Given the description of an element on the screen output the (x, y) to click on. 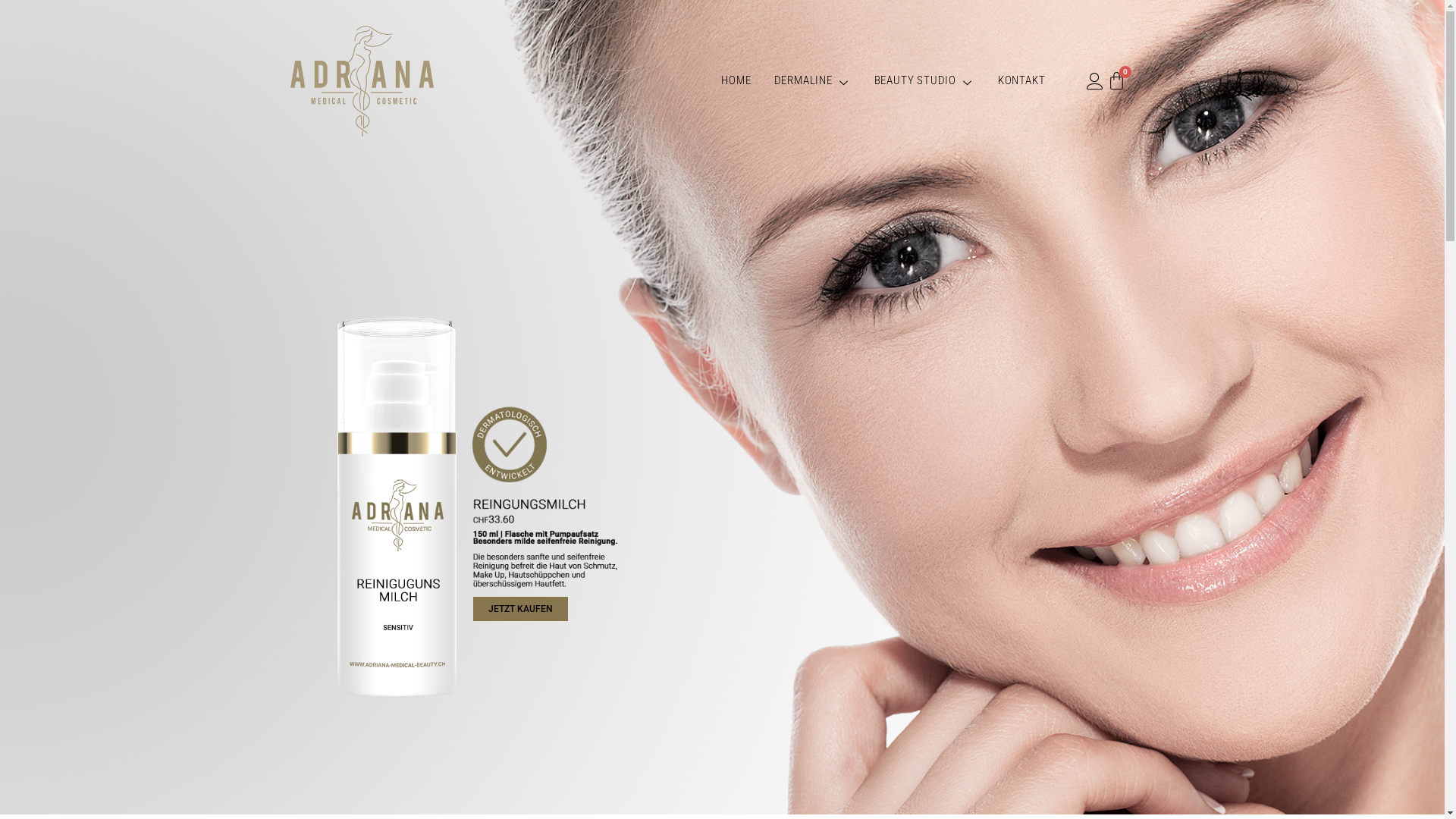
JETZT KAUFEN Element type: text (520, 608)
HOME Element type: text (735, 80)
DERMALINE Element type: text (812, 80)
0
Carrito Element type: text (1116, 80)
KONTAKT Element type: text (1021, 80)
BEAUTY STUDIO Element type: text (924, 80)
